Given the description of an element on the screen output the (x, y) to click on. 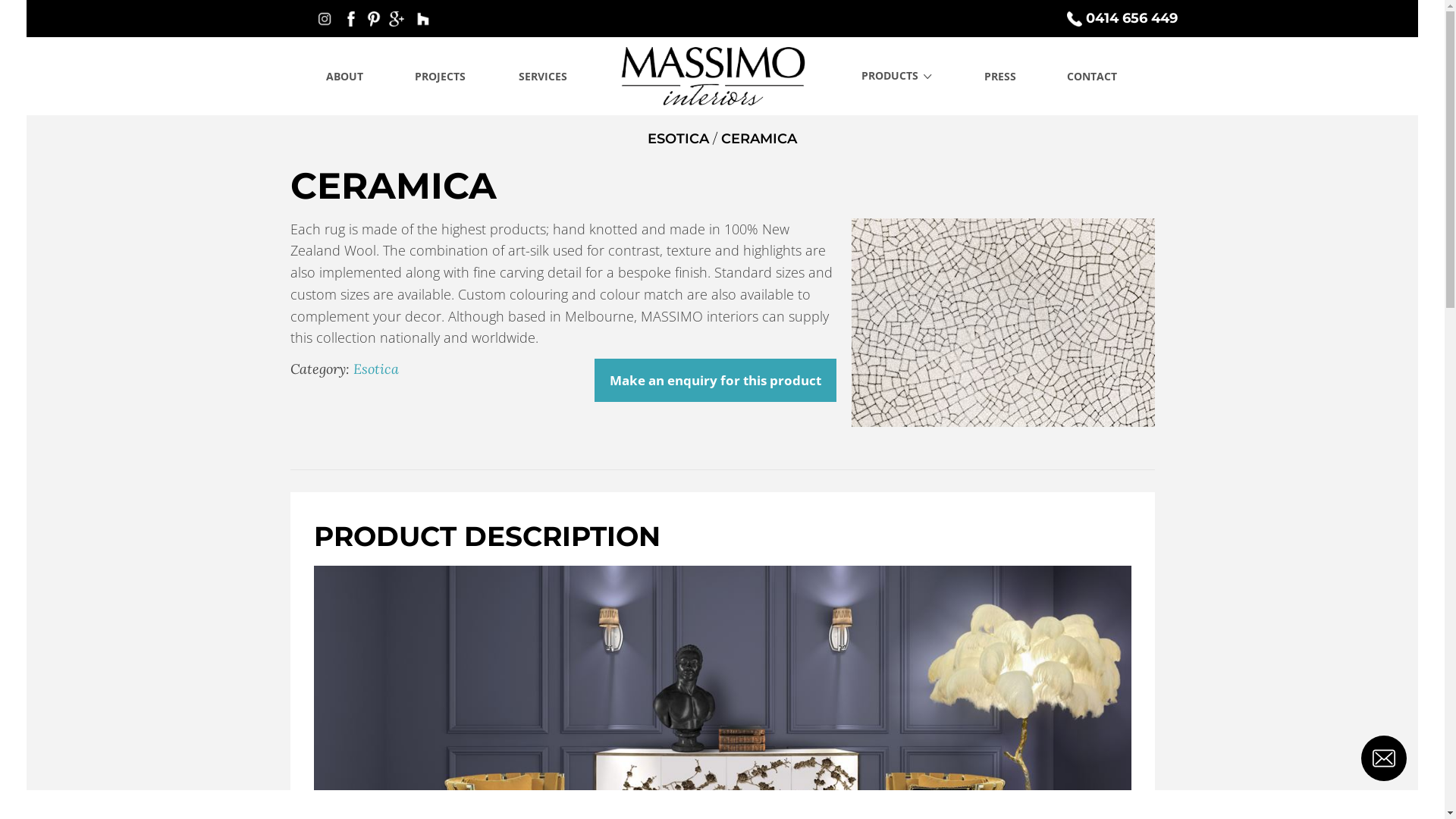
CONTACT Element type: text (1091, 75)
PRODUCTS Element type: text (895, 75)
PRESS Element type: text (1000, 75)
ESOTICA Element type: text (678, 138)
Esotica Element type: text (375, 368)
PROJECTS Element type: text (440, 75)
ABOUT Element type: text (345, 75)
0414 656 449 Element type: text (1123, 17)
SERVICES Element type: text (542, 75)
